Given the description of an element on the screen output the (x, y) to click on. 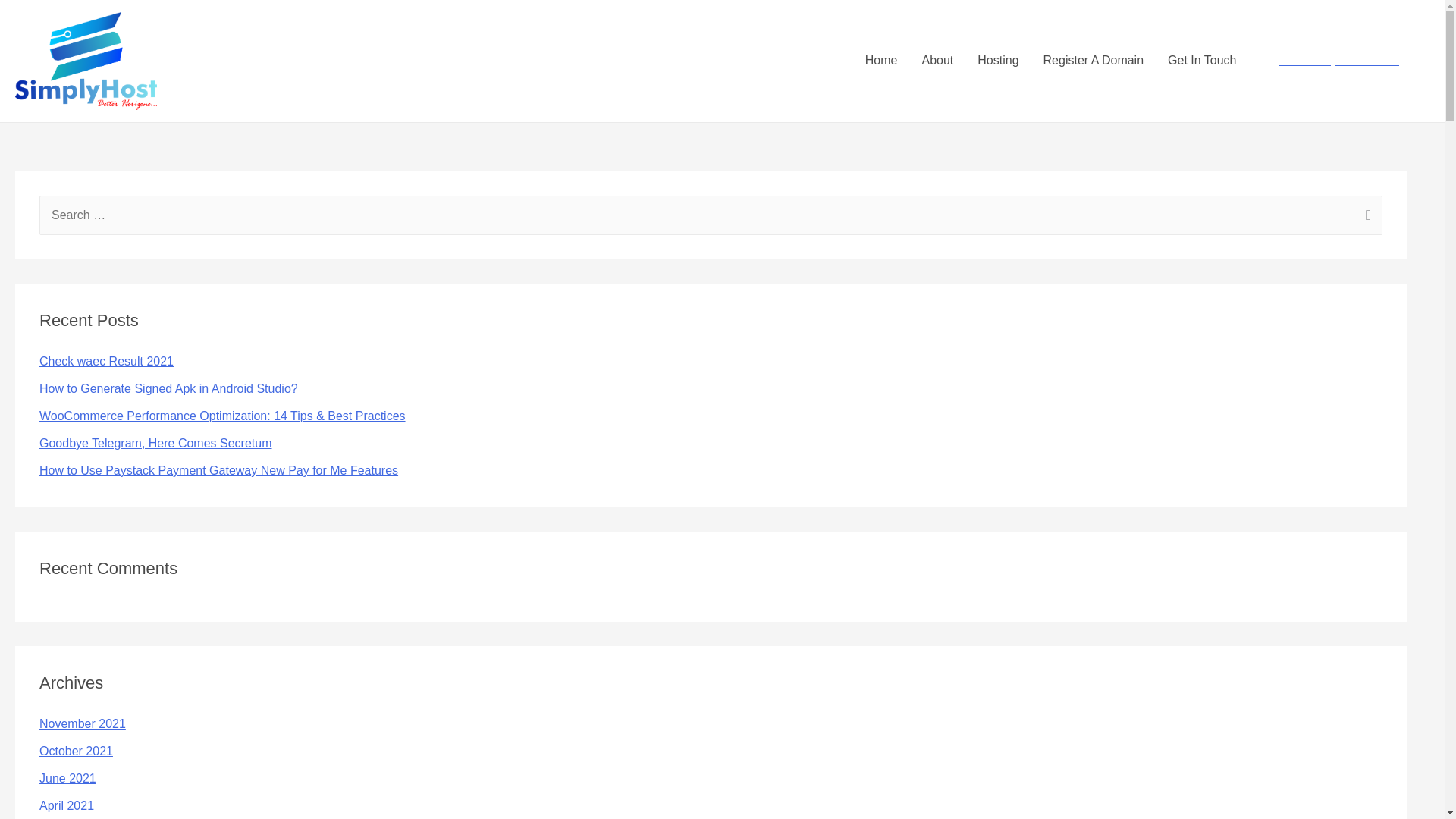
Search (1364, 216)
June 2021 (67, 778)
October 2021 (76, 750)
Register A Domain (1093, 60)
Search (1364, 216)
Search (1364, 216)
Home (881, 60)
Have A Project? Lets Talk (1338, 60)
Hosting (997, 60)
How to Generate Signed Apk in Android Studio? (168, 388)
Get In Touch (1201, 60)
Check waec Result 2021 (106, 360)
Goodbye Telegram, Here Comes Secretum (155, 442)
How to Use Paystack Payment Gateway New Pay for Me Features (218, 470)
November 2021 (82, 723)
